Given the description of an element on the screen output the (x, y) to click on. 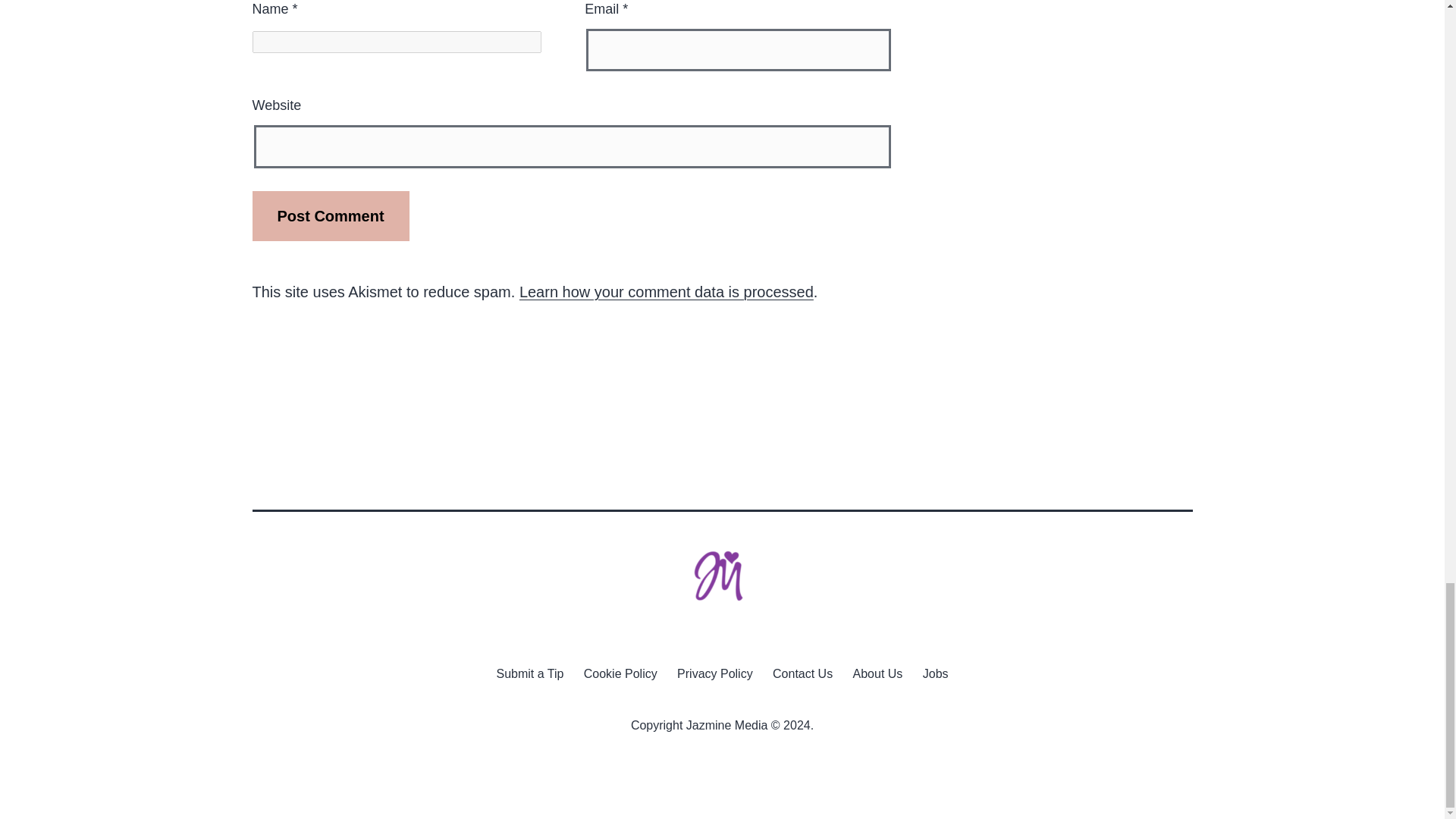
Privacy Policy (714, 673)
Submit a Tip (529, 673)
Post Comment (330, 215)
Jobs (935, 673)
Cookie Policy (619, 673)
Post Comment (330, 215)
About Us (877, 673)
Contact Us (802, 673)
Learn how your comment data is processed (666, 291)
